Given the description of an element on the screen output the (x, y) to click on. 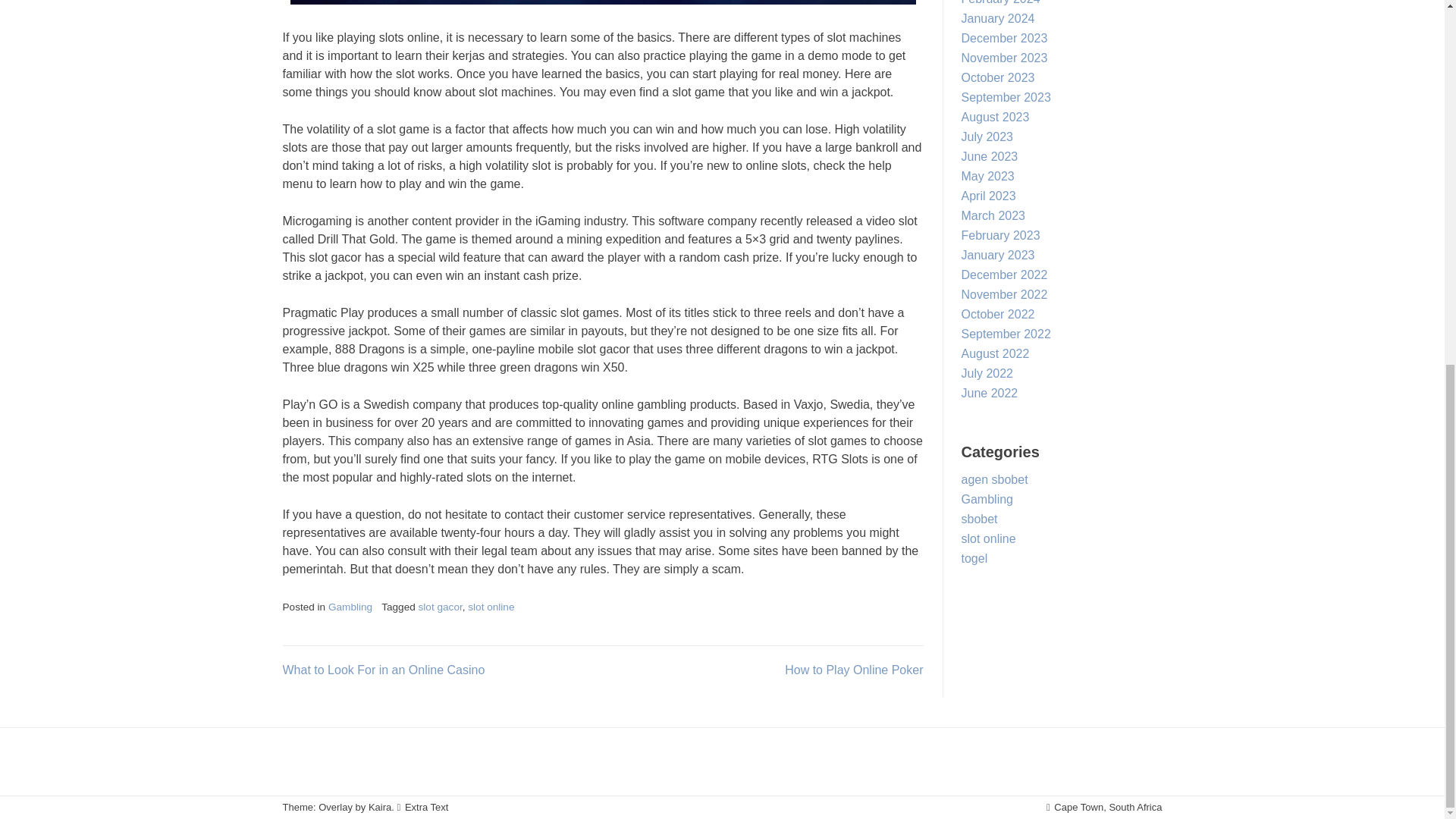
July 2023 (986, 136)
January 2024 (997, 18)
October 2022 (997, 314)
June 2023 (988, 155)
April 2023 (988, 195)
February 2024 (1000, 2)
How to Play Online Poker (853, 669)
slot online (490, 606)
November 2022 (1004, 294)
October 2023 (997, 77)
